Given the description of an element on the screen output the (x, y) to click on. 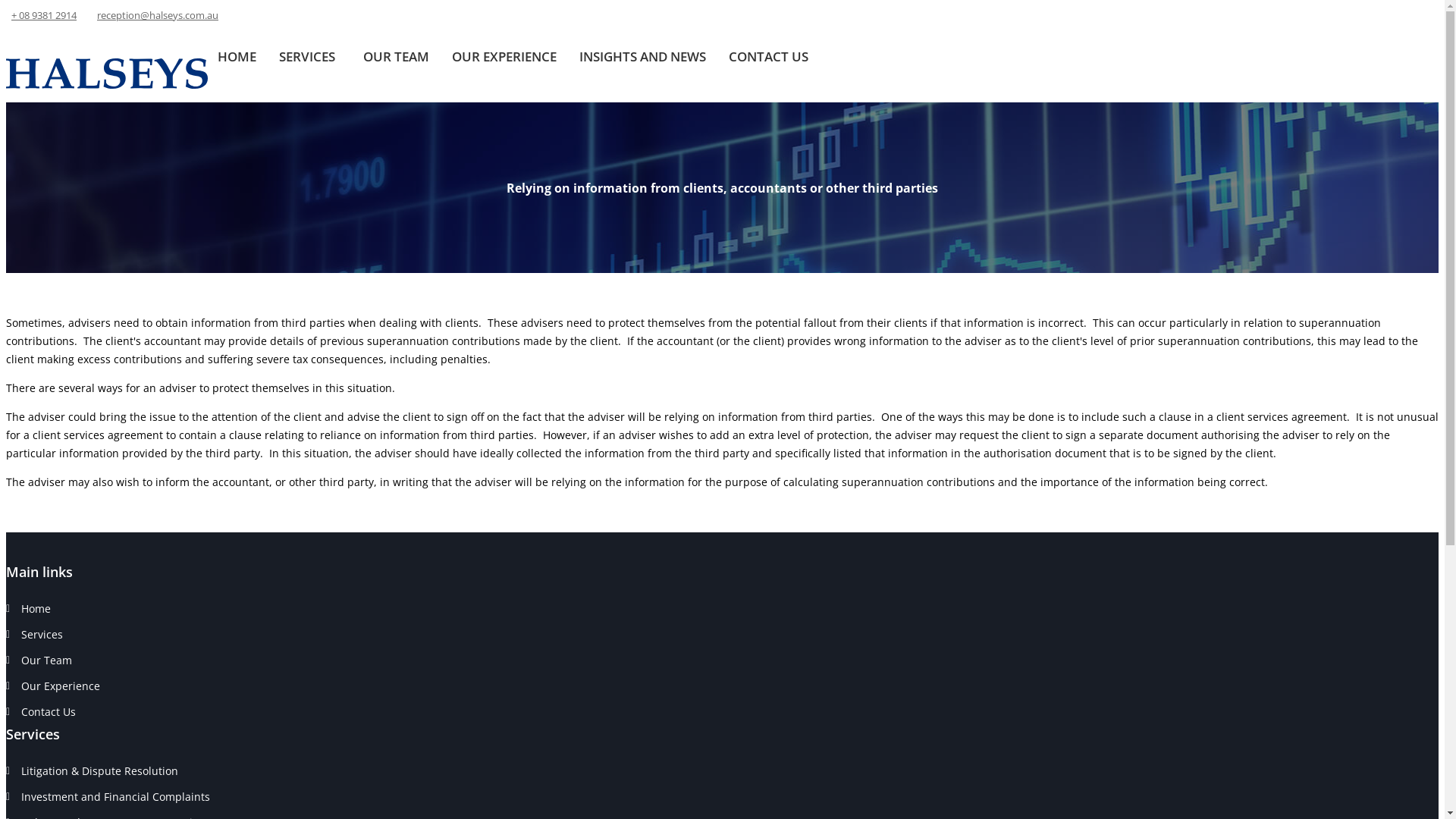
OUR EXPERIENCE Element type: text (503, 56)
SERVICES Element type: text (309, 57)
+ 08 9381 2914 Element type: text (43, 14)
CONTACT US Element type: text (768, 56)
Contact Us Element type: text (48, 711)
reception@halseys.com.au Element type: text (157, 14)
Our Team Element type: text (46, 659)
Home Element type: text (35, 608)
Services Element type: text (41, 634)
HOME Element type: text (236, 56)
Litigation & Dispute Resolution Element type: text (99, 770)
Investment and Financial Complaints Element type: text (115, 796)
Our Experience Element type: text (60, 685)
OUR TEAM Element type: text (396, 56)
INSIGHTS AND NEWS Element type: text (642, 56)
